Given the description of an element on the screen output the (x, y) to click on. 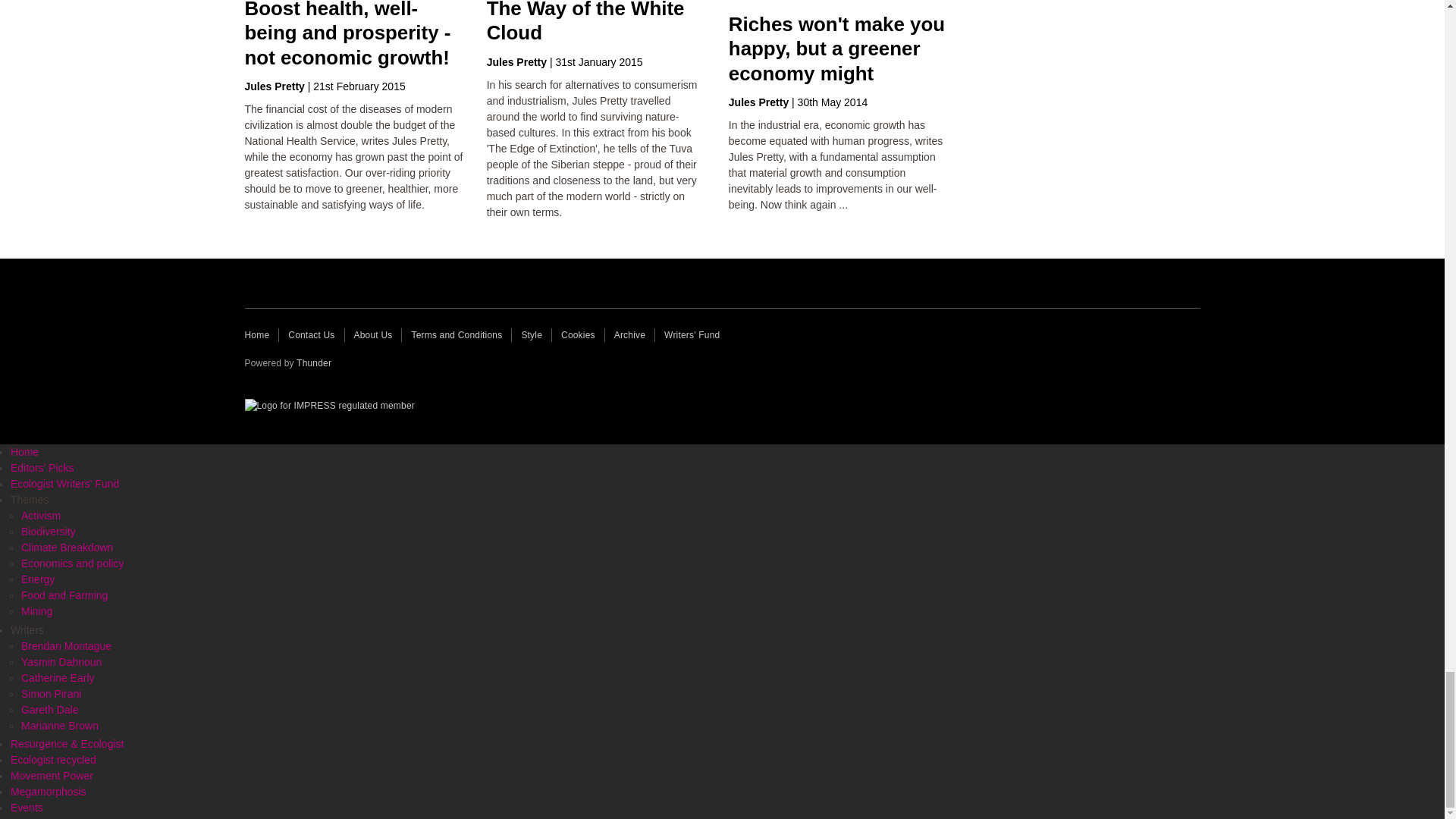
Saturday, January 31, 2015 - 00:00 (598, 61)
Friday, May 30, 2014 - 00:00 (832, 102)
Riches won't make you happy, but a greener economy might (836, 48)
The Way of the White Cloud (585, 21)
Saturday, February 21, 2015 - 00:00 (358, 86)
